Given the description of an element on the screen output the (x, y) to click on. 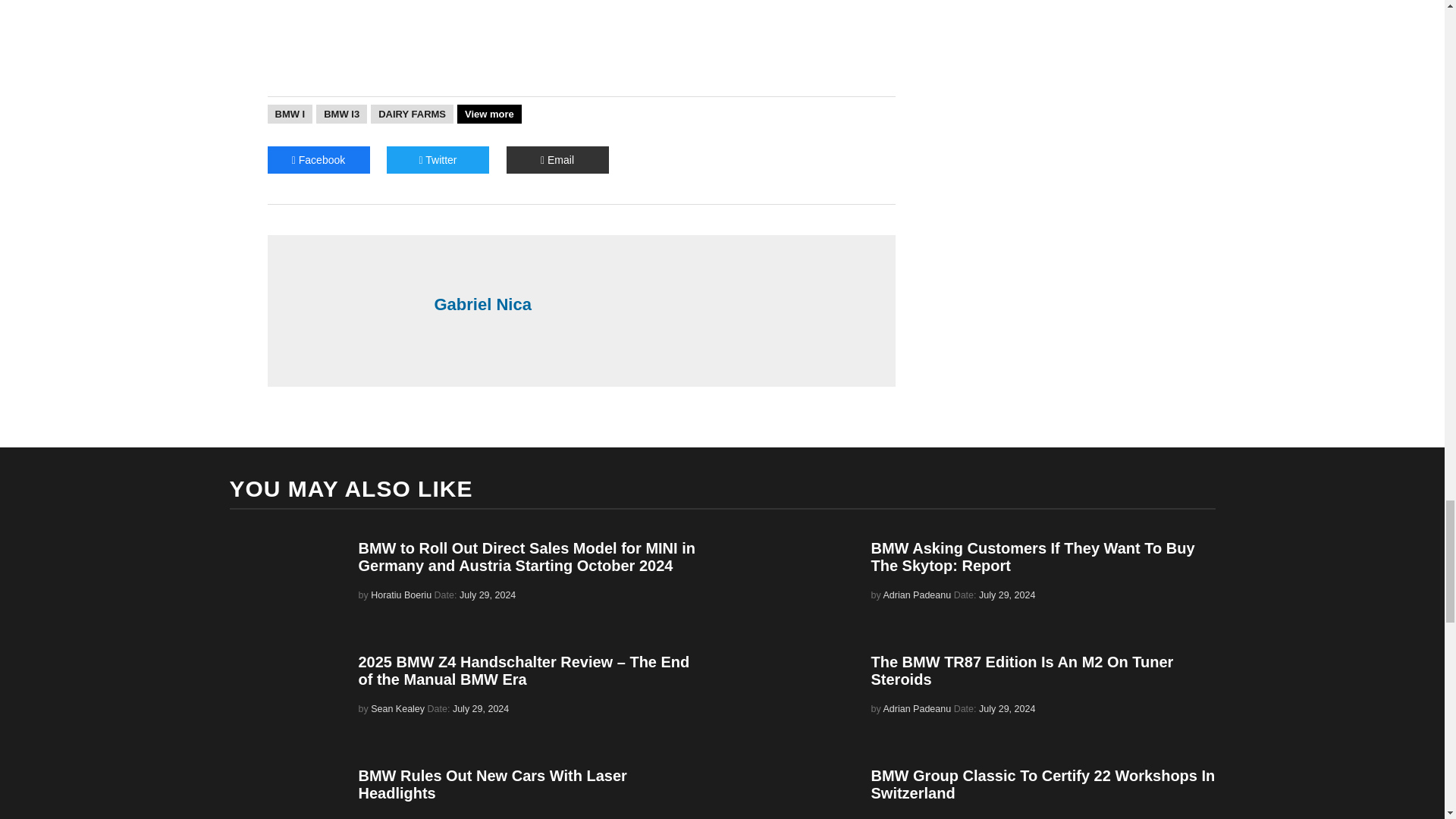
Facebook (317, 159)
Gabriel Nica (656, 304)
Twitter (438, 159)
